Given the description of an element on the screen output the (x, y) to click on. 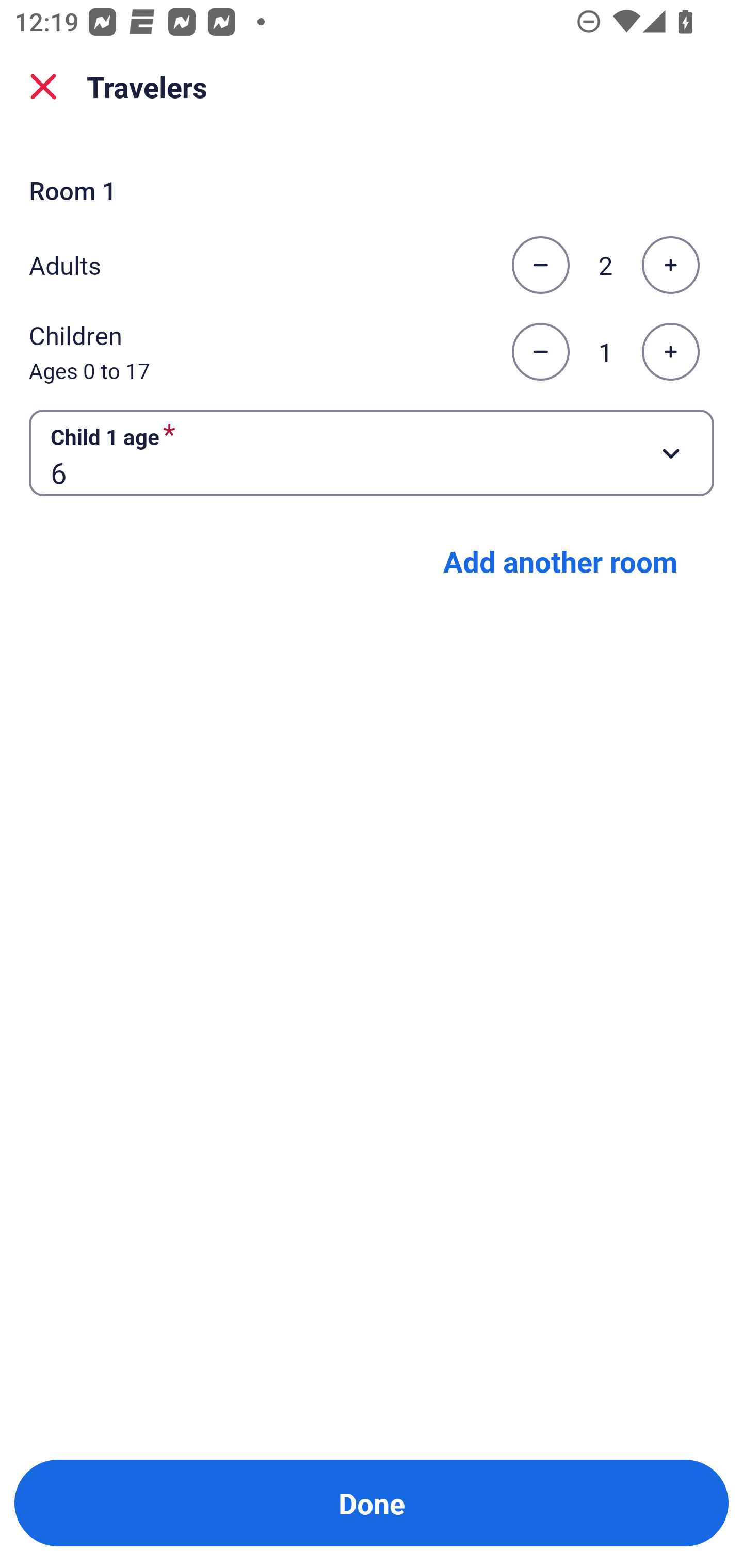
close (43, 86)
Decrease the number of adults (540, 264)
Increase the number of adults (670, 264)
Decrease the number of children (540, 351)
Increase the number of children (670, 351)
Child 1 age required Button 6 (371, 452)
Add another room (560, 561)
Done (371, 1502)
